Given the description of an element on the screen output the (x, y) to click on. 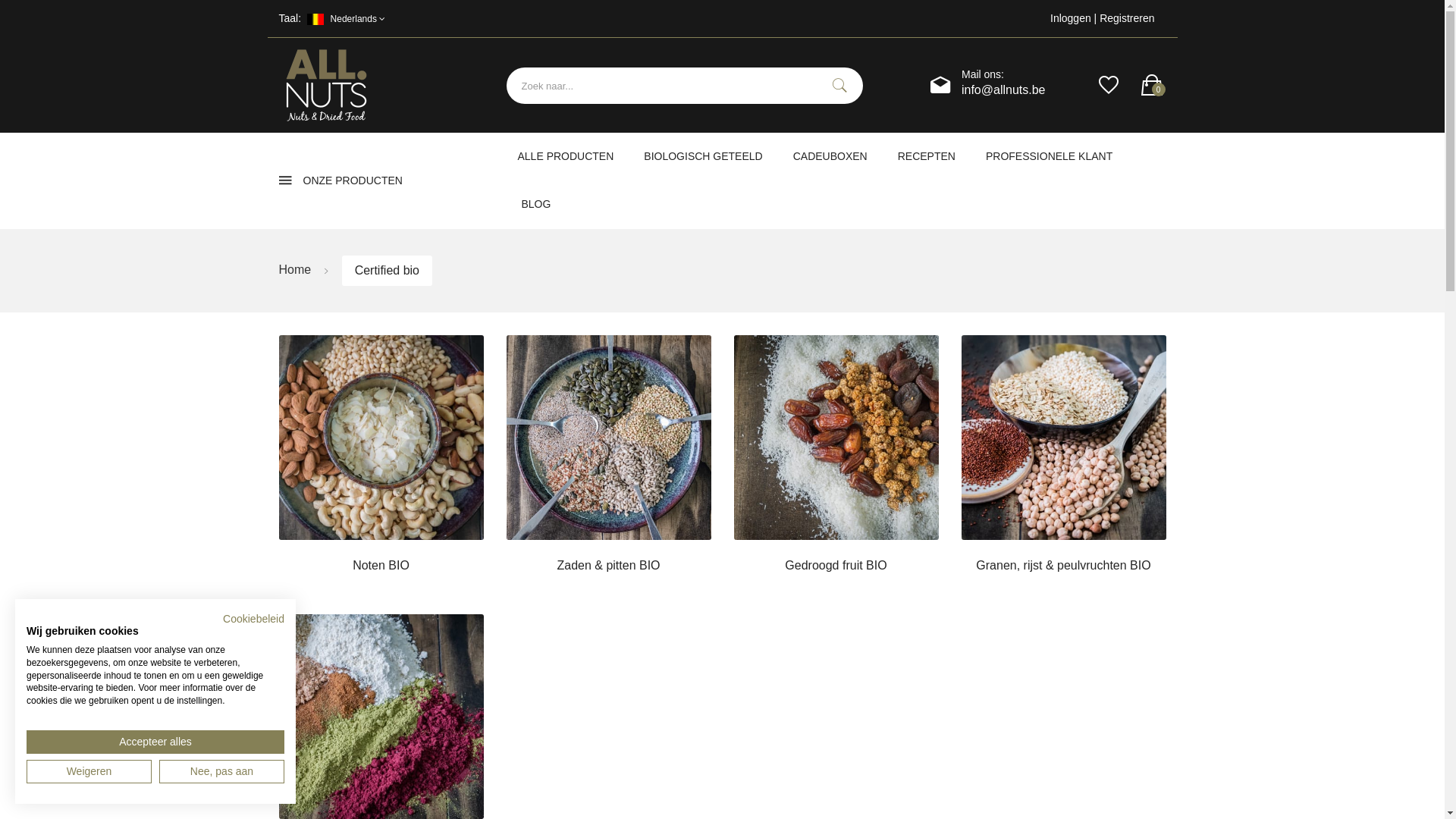
Noten BIO Element type: text (381, 463)
Weigeren Element type: text (88, 771)
Inloggen | Registreren Element type: text (1086, 18)
RECEPTEN Element type: text (926, 156)
Cookiebeleid Element type: text (253, 618)
Accepteer alles Element type: text (155, 741)
PROFESSIONELE KLANT Element type: text (1048, 156)
Gedroogd fruit BIO Element type: text (836, 463)
BLOG Element type: text (535, 203)
Granen, rijst & peulvruchten BIO Element type: text (1063, 463)
Zaden & pitten BIO Element type: text (608, 463)
Nee, pas aan Element type: text (221, 771)
Mail ons:
info@allnuts.be Element type: text (1003, 82)
0 Element type: text (1150, 84)
BIOLOGISCH GETEELD Element type: text (702, 156)
Home Element type: text (295, 269)
CADEUBOXEN Element type: text (829, 156)
ALLE PRODUCTEN Element type: text (565, 156)
